Given the description of an element on the screen output the (x, y) to click on. 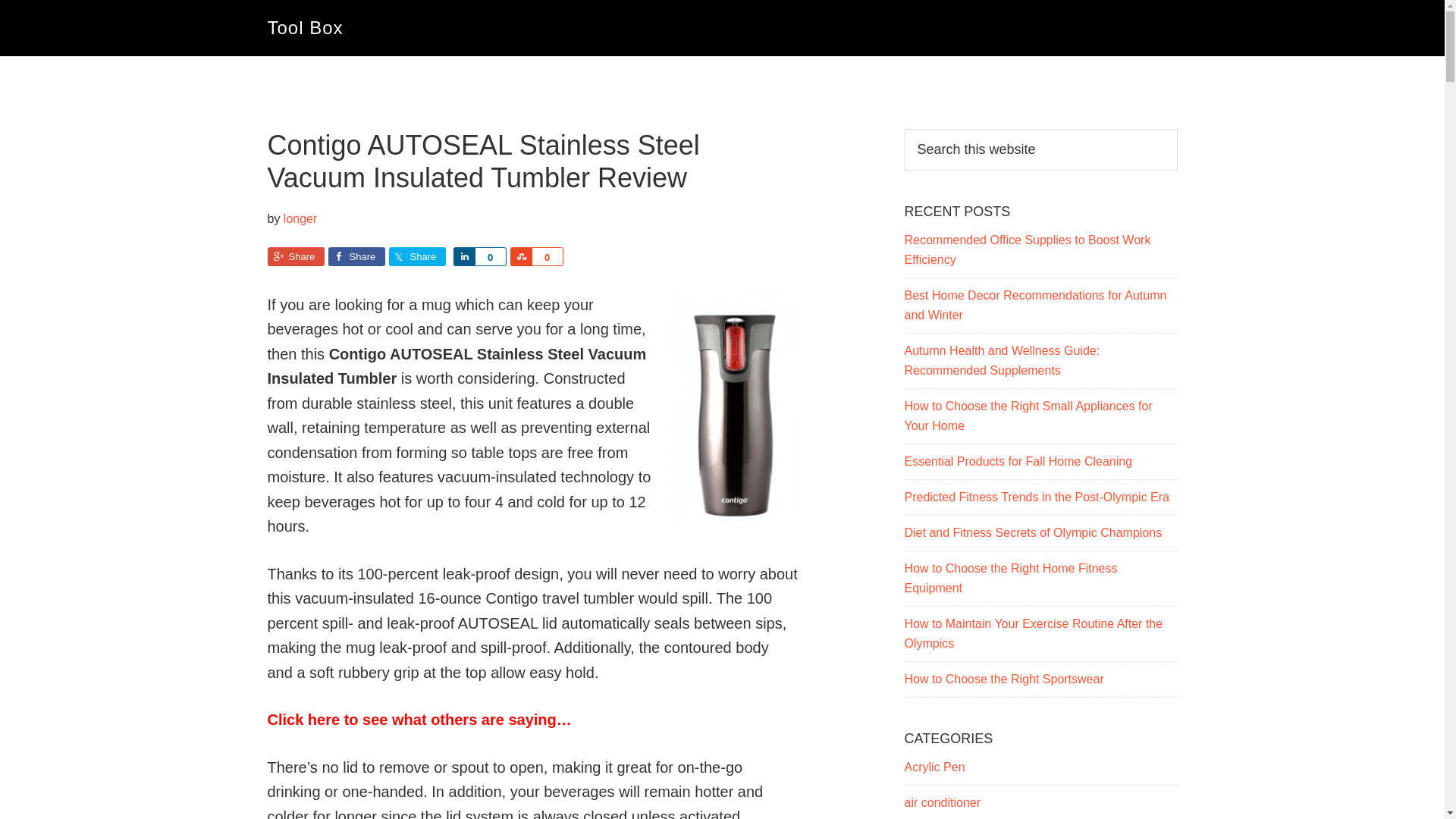
Share (520, 256)
How to Choose the Right Home Fitness Equipment (1010, 577)
How to Choose the Right Sportswear (1003, 678)
Acrylic Pen (933, 766)
Share (463, 256)
How to Choose the Right Small Appliances for Your Home (1027, 415)
Share (355, 256)
Essential Products for Fall Home Cleaning (1018, 461)
